Given the description of an element on the screen output the (x, y) to click on. 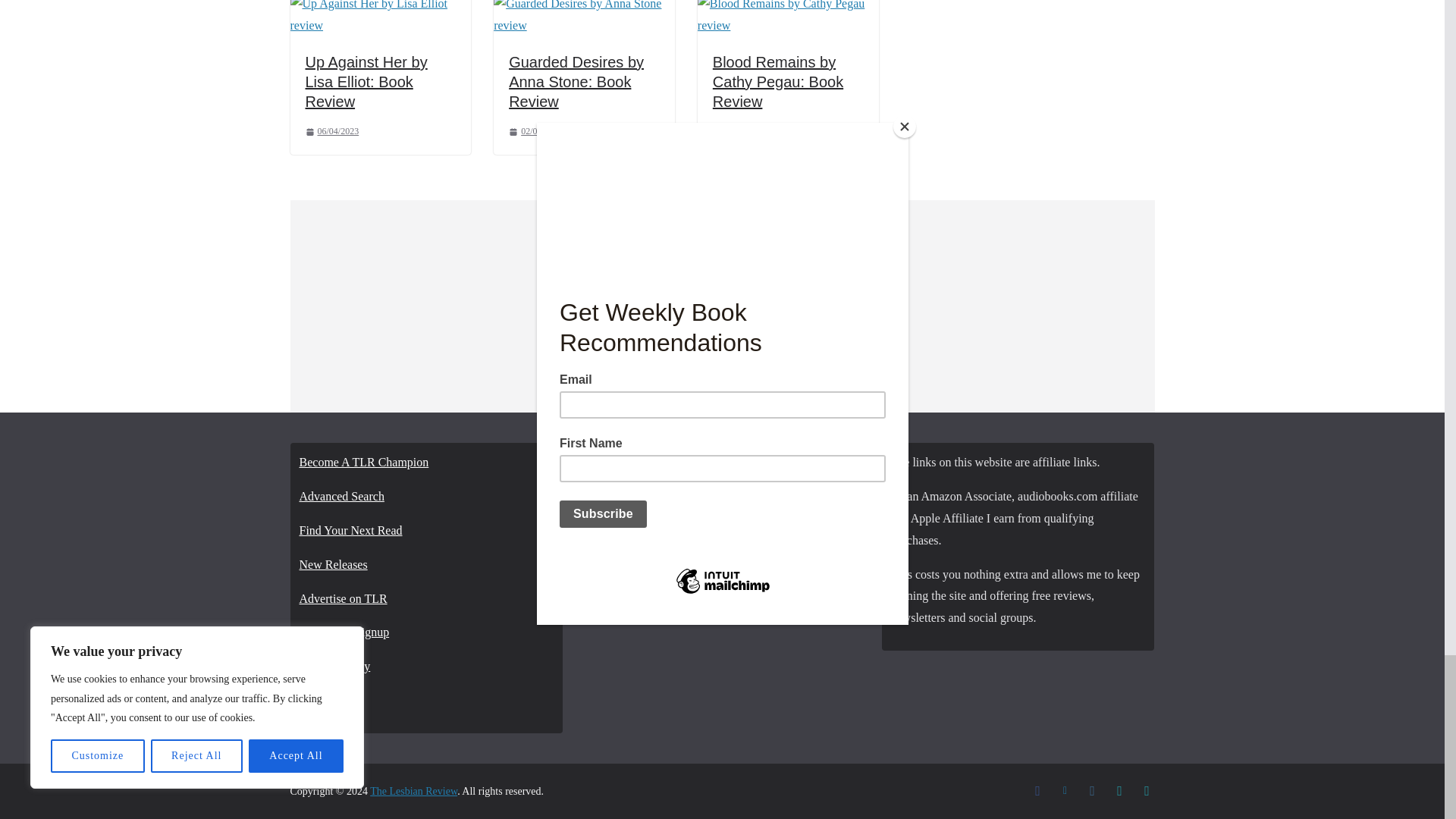
Guarded Desires by Anna Stone: Book Review (584, 4)
12:00 am (331, 131)
Guarded Desires by Anna Stone: Book Review (575, 81)
Up Against Her by Lisa Elliot: Book Review (379, 4)
Up Against Her by Lisa Elliot: Book Review (365, 81)
12:00 am (535, 131)
Blood Remains by Cathy Pegau: Book Review (788, 4)
